Given the description of an element on the screen output the (x, y) to click on. 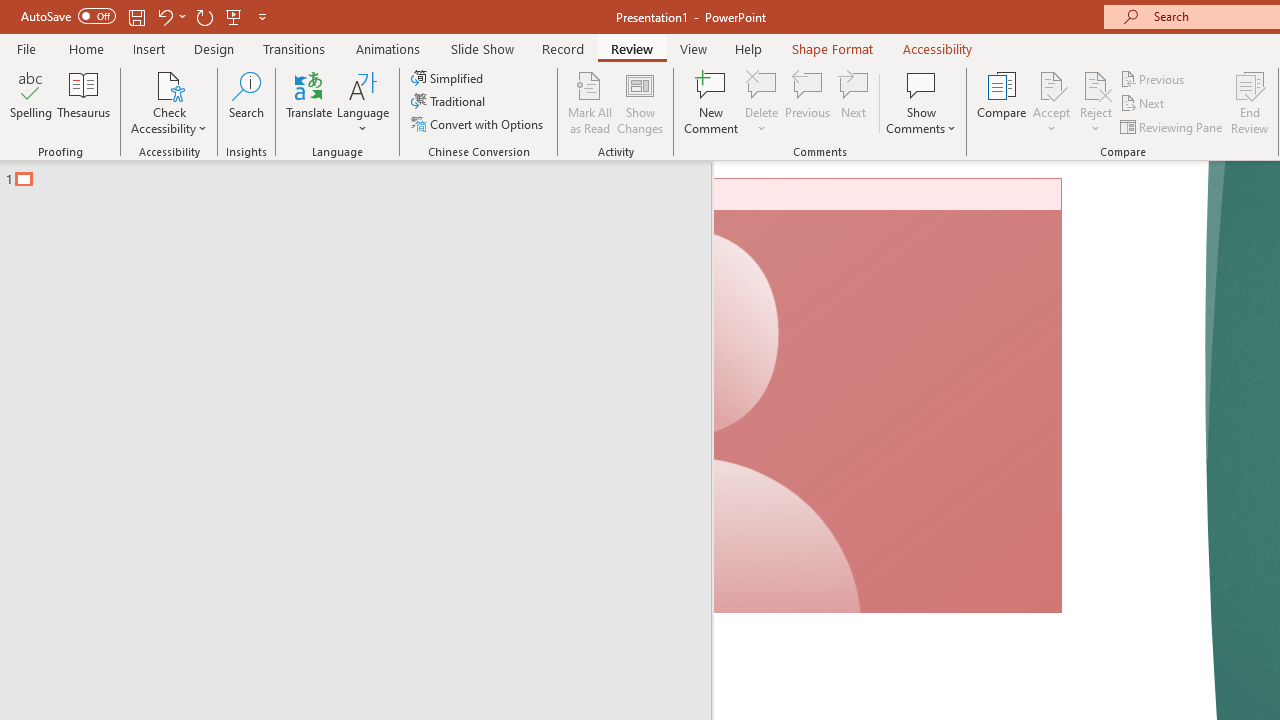
Compare (1002, 102)
Thesaurus... (83, 102)
Show Changes (639, 102)
Mark All as Read (589, 102)
Language (363, 102)
